Given the description of an element on the screen output the (x, y) to click on. 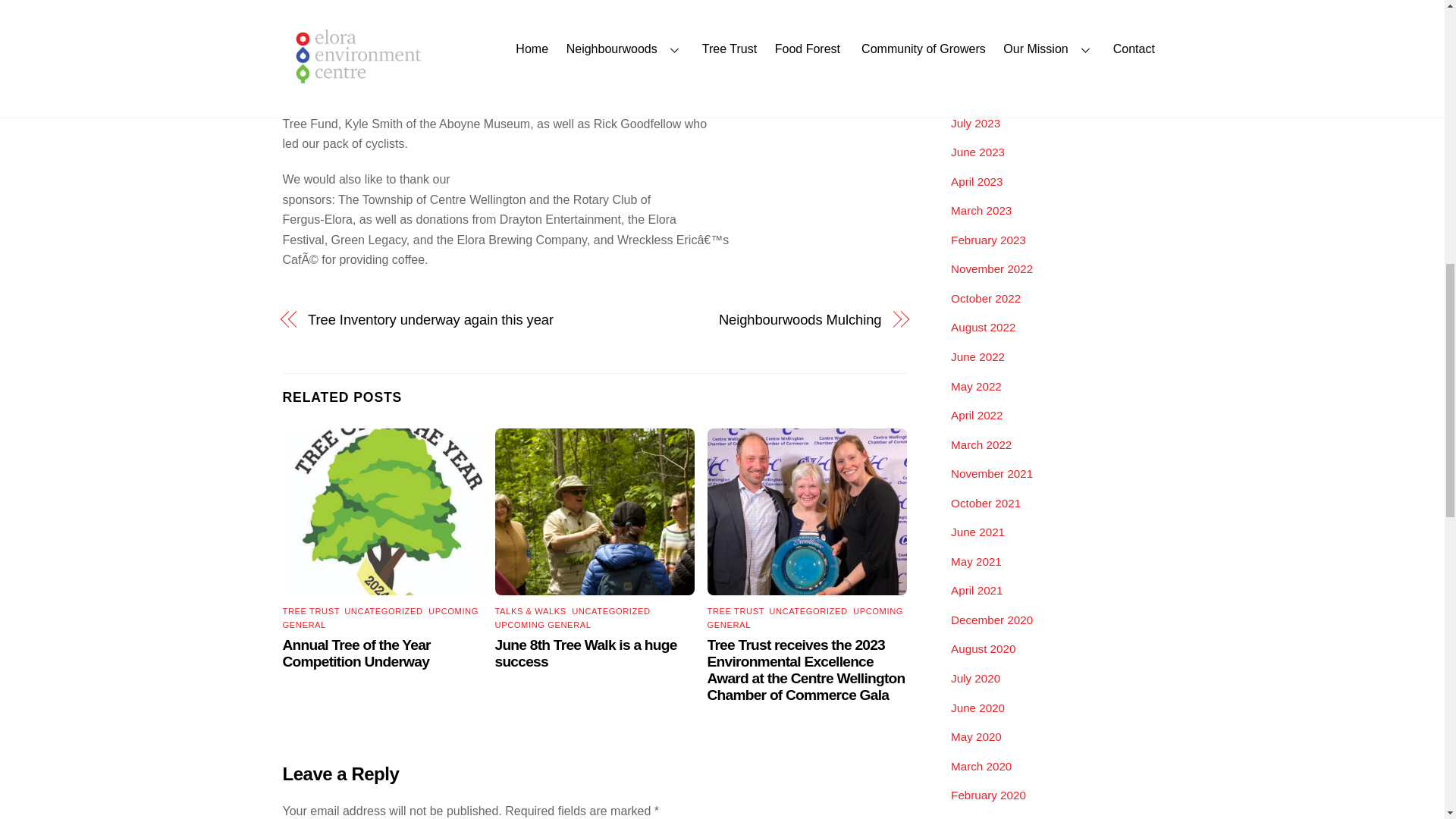
TREE TRUST (734, 610)
UNCATEGORIZED (382, 610)
EnvironmentalExcellence (807, 512)
Tree of the Year 2024 (381, 512)
UPCOMING GENERAL (543, 624)
June 8th Tree Walk is a huge success (586, 653)
Tree Inventory underway again this year (441, 320)
UNCATEGORIZED (610, 610)
Rob teaching (595, 512)
UPCOMING GENERAL (380, 617)
